Given the description of an element on the screen output the (x, y) to click on. 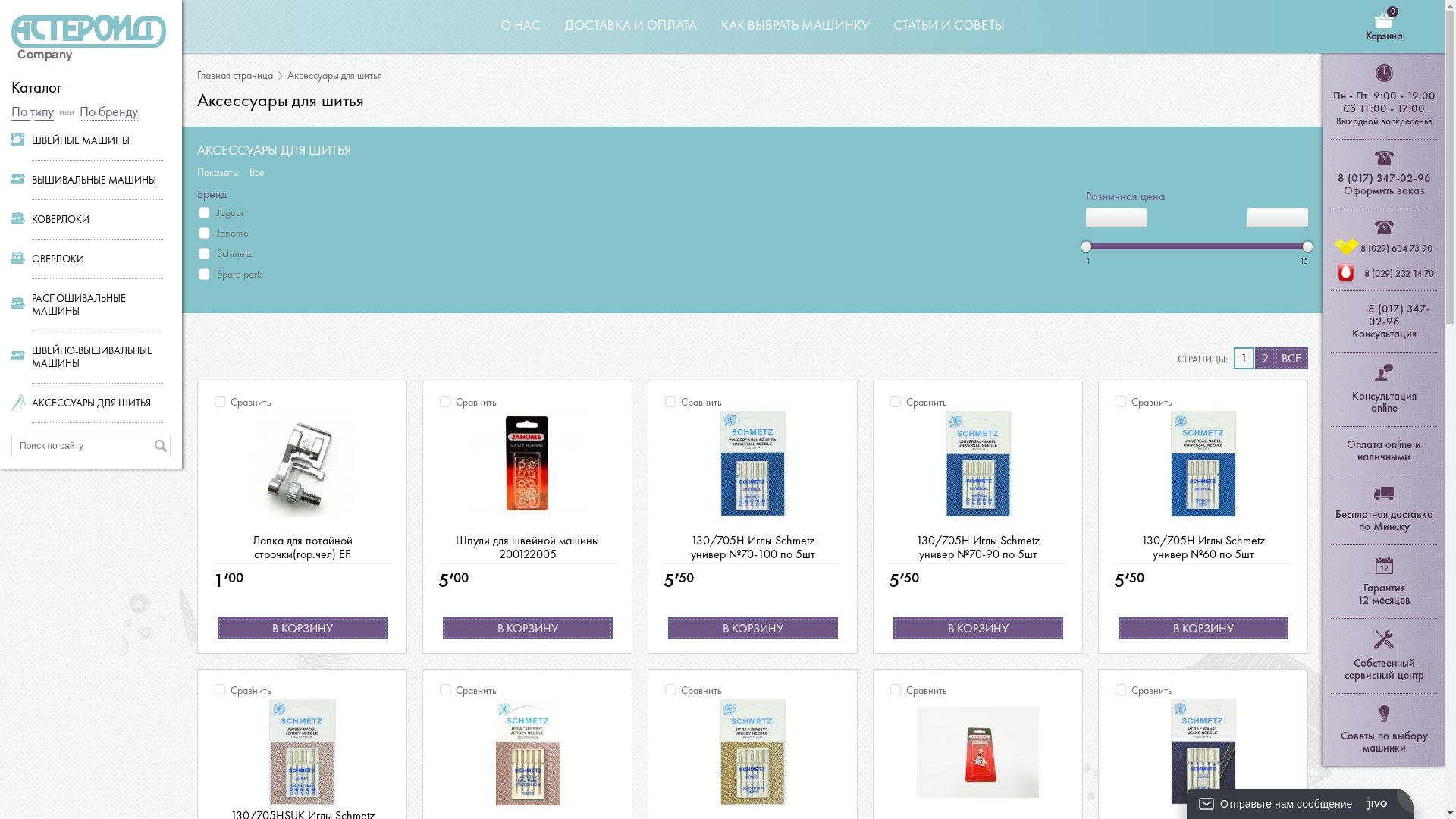
8 (029) 232 14 70 Element type: text (1399, 273)
Y Element type: text (4, 4)
8 (017) 3 Element type: text (1359, 178)
2 Element type: text (1265, 357)
8 (029) 604 73 90 Element type: text (1396, 248)
8 (017) 3 Element type: text (1390, 308)
